Given the description of an element on the screen output the (x, y) to click on. 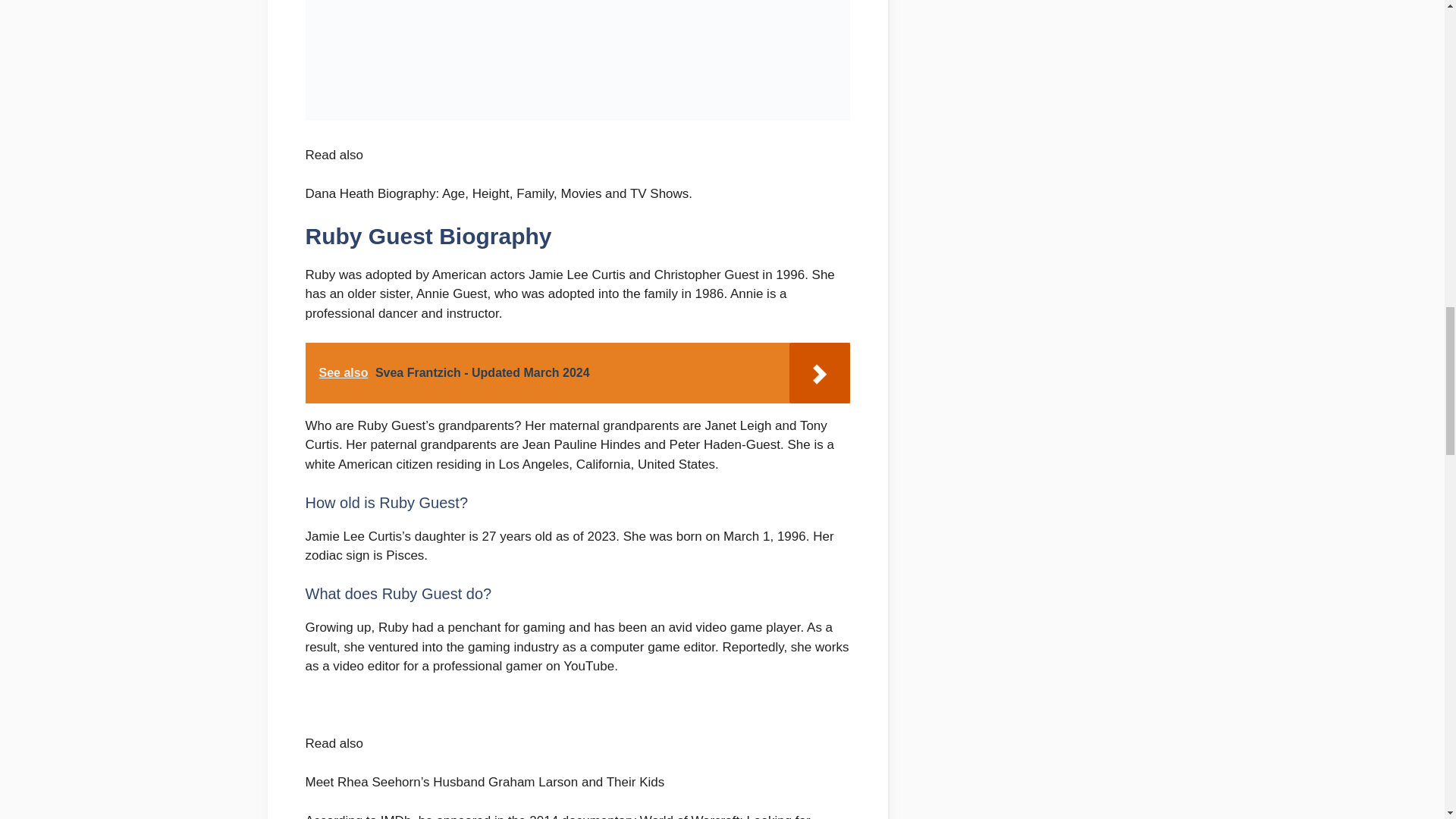
See also  Svea Frantzich - Updated March 2024 (576, 373)
